Given the description of an element on the screen output the (x, y) to click on. 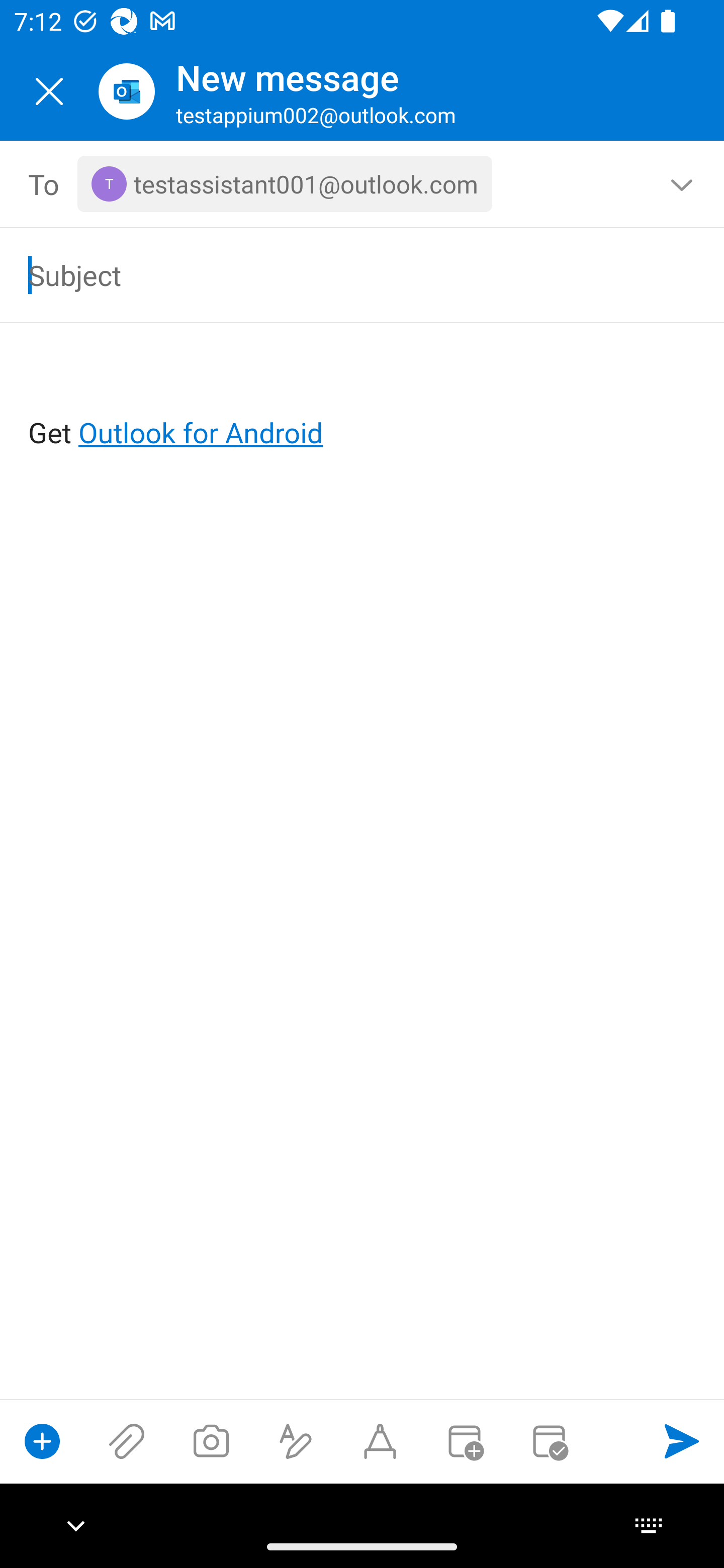
Close (49, 91)
To, 1 recipient <testassistant001@outlook.com> (362, 184)
Subject (333, 274)


Get Outlook for Android (363, 400)
Show compose options (42, 1440)
Attach files (126, 1440)
Take a photo (210, 1440)
Show formatting options (295, 1440)
Start Ink compose (380, 1440)
Convert to event (464, 1440)
Send availability (548, 1440)
Send (681, 1440)
